Given the description of an element on the screen output the (x, y) to click on. 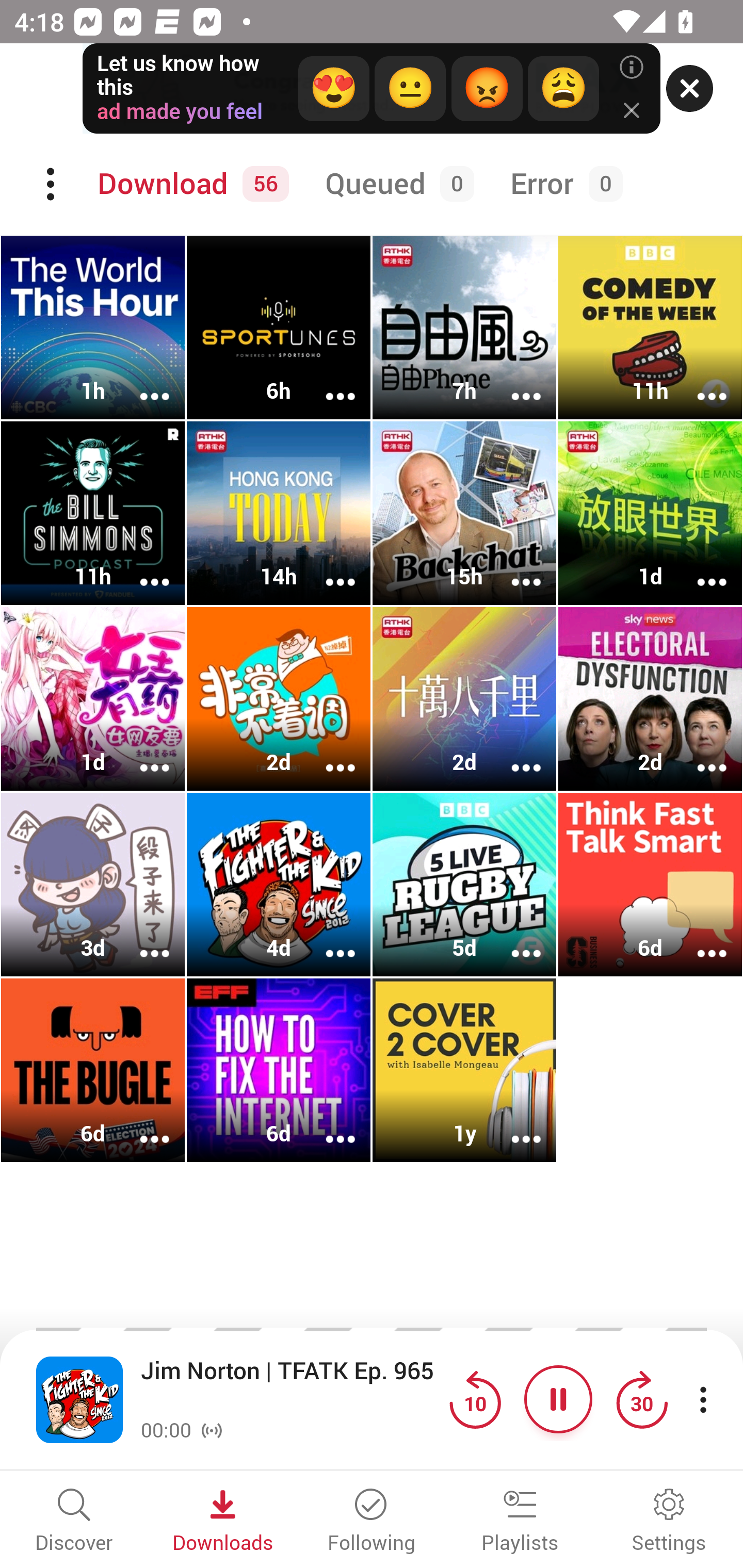
app-monetization (371, 88)
😍 (333, 88)
😐 (409, 88)
😡 (487, 88)
😩 (562, 88)
Menu (52, 184)
 Download 56 (189, 184)
 Queued 0 (396, 184)
 Error 0 (562, 184)
The World This Hour 1h More options More options (92, 327)
Sportunes HK 6h More options More options (278, 327)
自由风自由PHONE 7h More options More options (464, 327)
Comedy of the Week 11h More options More options (650, 327)
More options (141, 382)
More options (326, 382)
More options (512, 382)
More options (698, 382)
Hong Kong Today 14h More options More options (278, 513)
Backchat 15h More options More options (464, 513)
放眼世界 1d More options More options (650, 513)
More options (141, 569)
More options (326, 569)
More options (512, 569)
More options (698, 569)
女王有药丨爆笑脱口秀 1d More options More options (92, 698)
非常不着调 2d More options More options (278, 698)
十萬八千里 2d More options More options (464, 698)
Electoral Dysfunction 2d More options More options (650, 698)
More options (141, 754)
More options (326, 754)
More options (512, 754)
More options (698, 754)
段子来了 3d More options More options (92, 883)
The Fighter & The Kid 4d More options More options (278, 883)
5 Live Rugby League 5d More options More options (464, 883)
More options (141, 940)
More options (326, 940)
More options (512, 940)
More options (698, 940)
The Bugle 6d More options More options (92, 1069)
Cover 2 Cover 1y More options More options (464, 1069)
More options (141, 1125)
More options (326, 1125)
More options (512, 1125)
Open fullscreen player (79, 1399)
More player controls (703, 1399)
Jim Norton | TFATK Ep. 965 (290, 1385)
Pause button (558, 1398)
Jump back (475, 1399)
Jump forward (641, 1399)
Discover (74, 1521)
Downloads (222, 1521)
Following (371, 1521)
Playlists (519, 1521)
Settings (668, 1521)
